Given the description of an element on the screen output the (x, y) to click on. 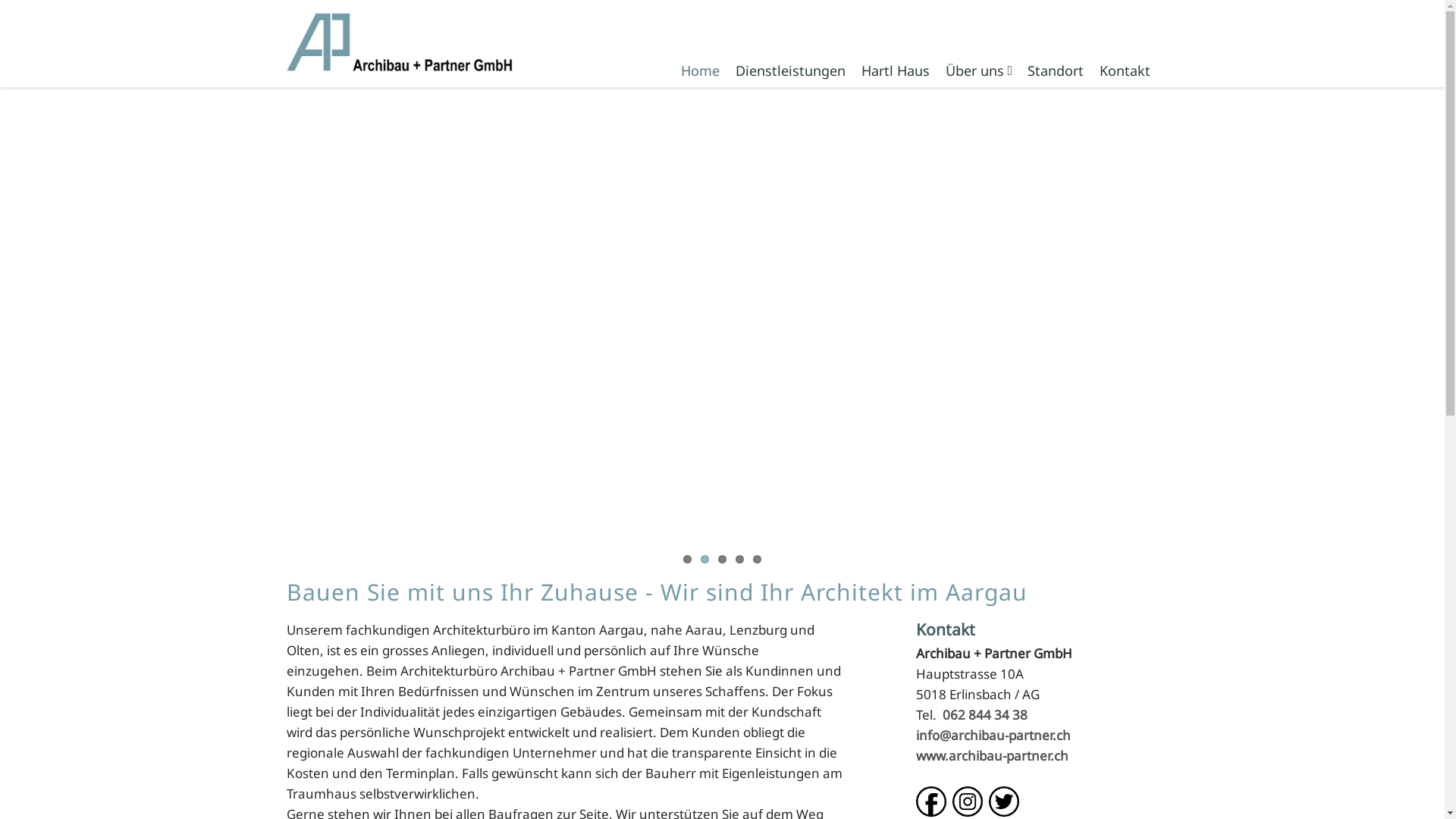
instagram Element type: hover (967, 801)
2 Element type: text (704, 559)
Unsere Dienstleistungen Element type: text (714, 702)
Dienstleistungen Element type: text (790, 70)
5 Element type: text (757, 559)
Home Element type: text (699, 70)
Kontakt Element type: text (1124, 70)
info@archibau-partner.ch Element type: text (993, 283)
062 844 34 38 Element type: text (983, 263)
twitter Element type: hover (1003, 801)
Hartl Haus Element type: text (895, 70)
4 Element type: text (739, 559)
mehr zu uns Element type: text (399, 681)
3 Element type: text (722, 559)
1 Element type: text (687, 559)
www.archibau-partner.ch Element type: text (992, 304)
facebook Element type: hover (931, 801)
Standort Element type: text (1054, 70)
